Given the description of an element on the screen output the (x, y) to click on. 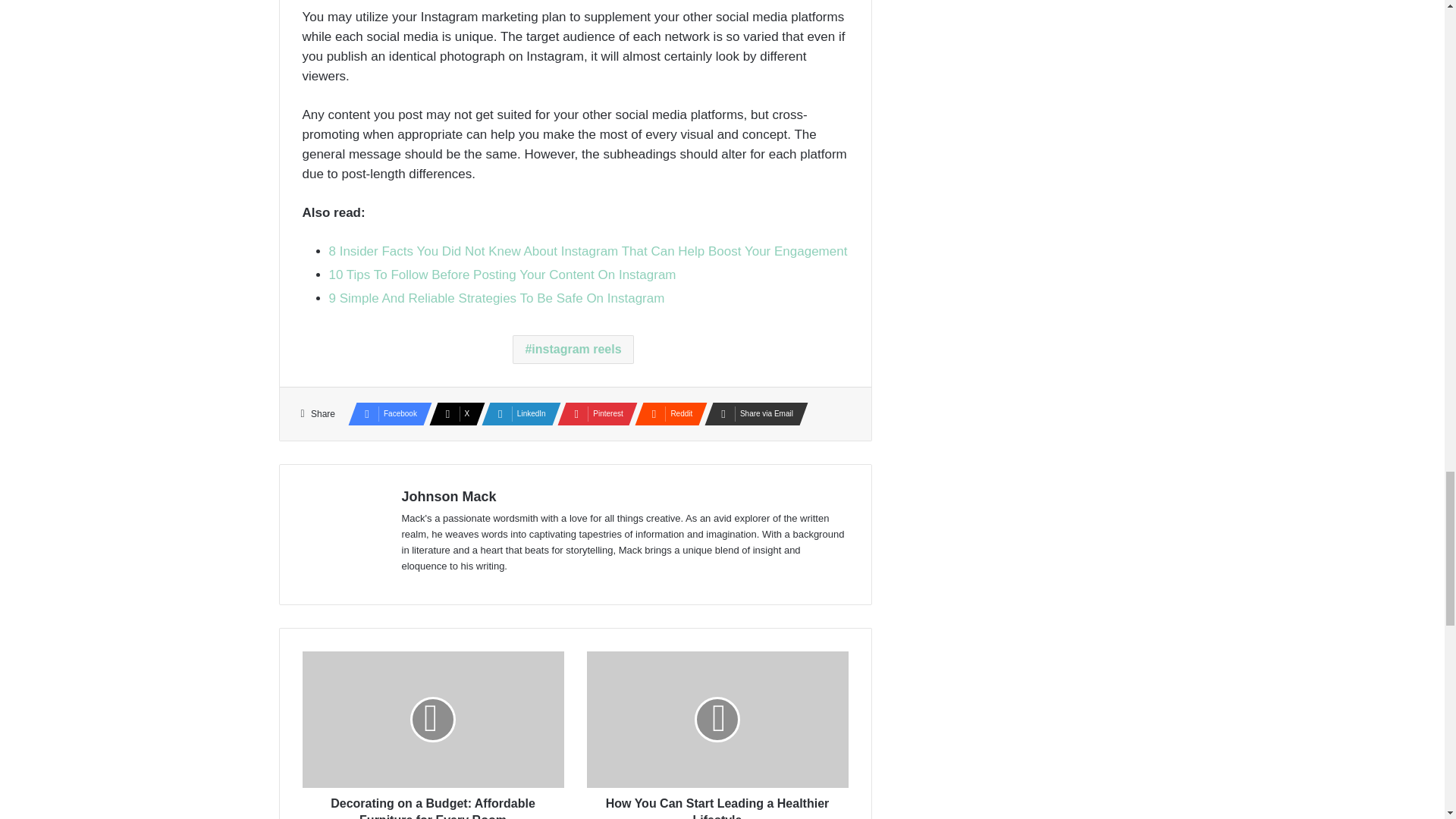
10 Tips To Follow Before Posting Your Content On Instagram (503, 274)
9 Simple And Reliable Strategies To Be Safe On Instagram (497, 298)
Reddit (666, 413)
Pinterest (592, 413)
Share via Email (751, 413)
LinkedIn (516, 413)
Facebook (385, 413)
X (452, 413)
